Given the description of an element on the screen output the (x, y) to click on. 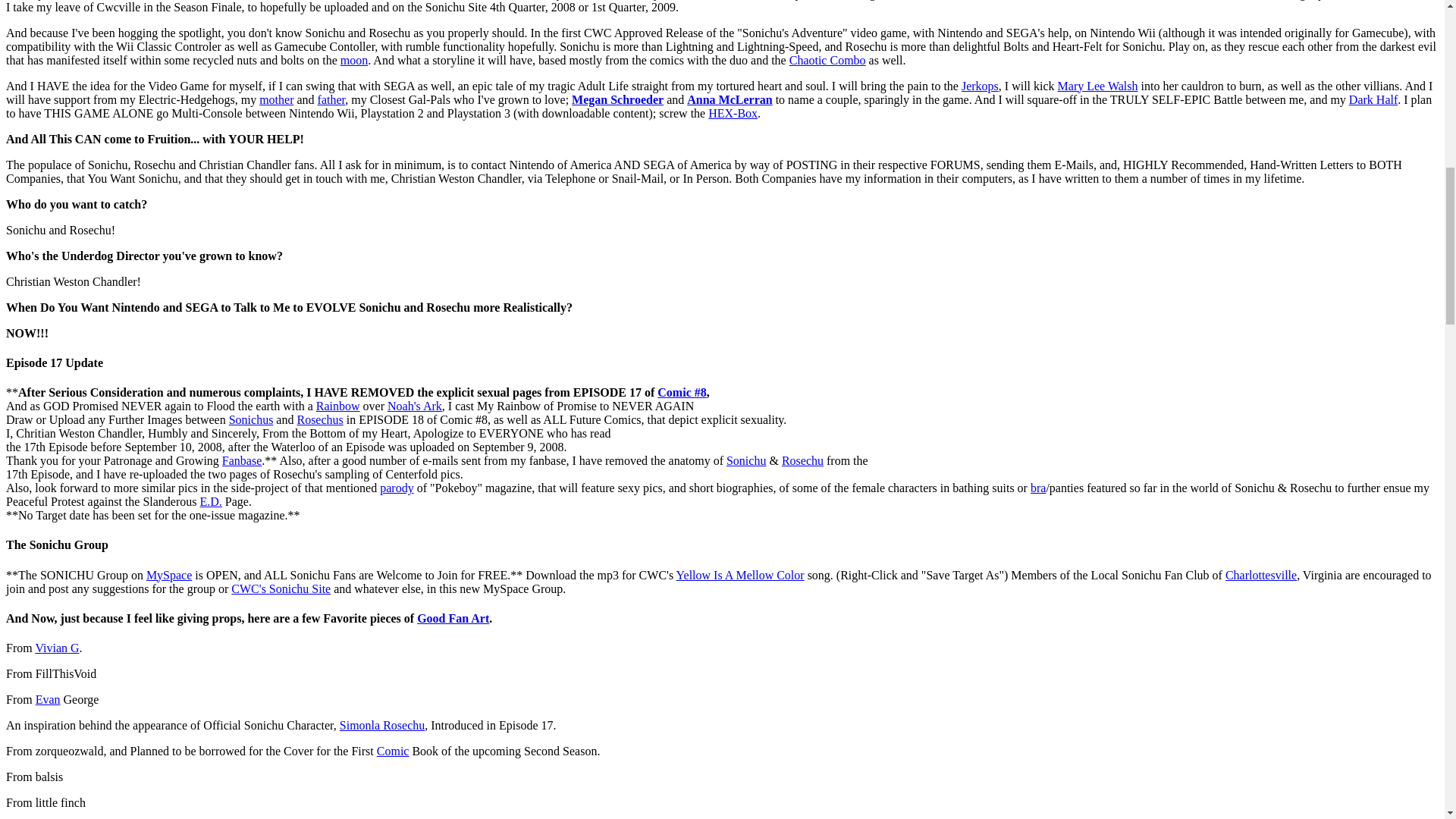
moon (354, 60)
